Given the description of an element on the screen output the (x, y) to click on. 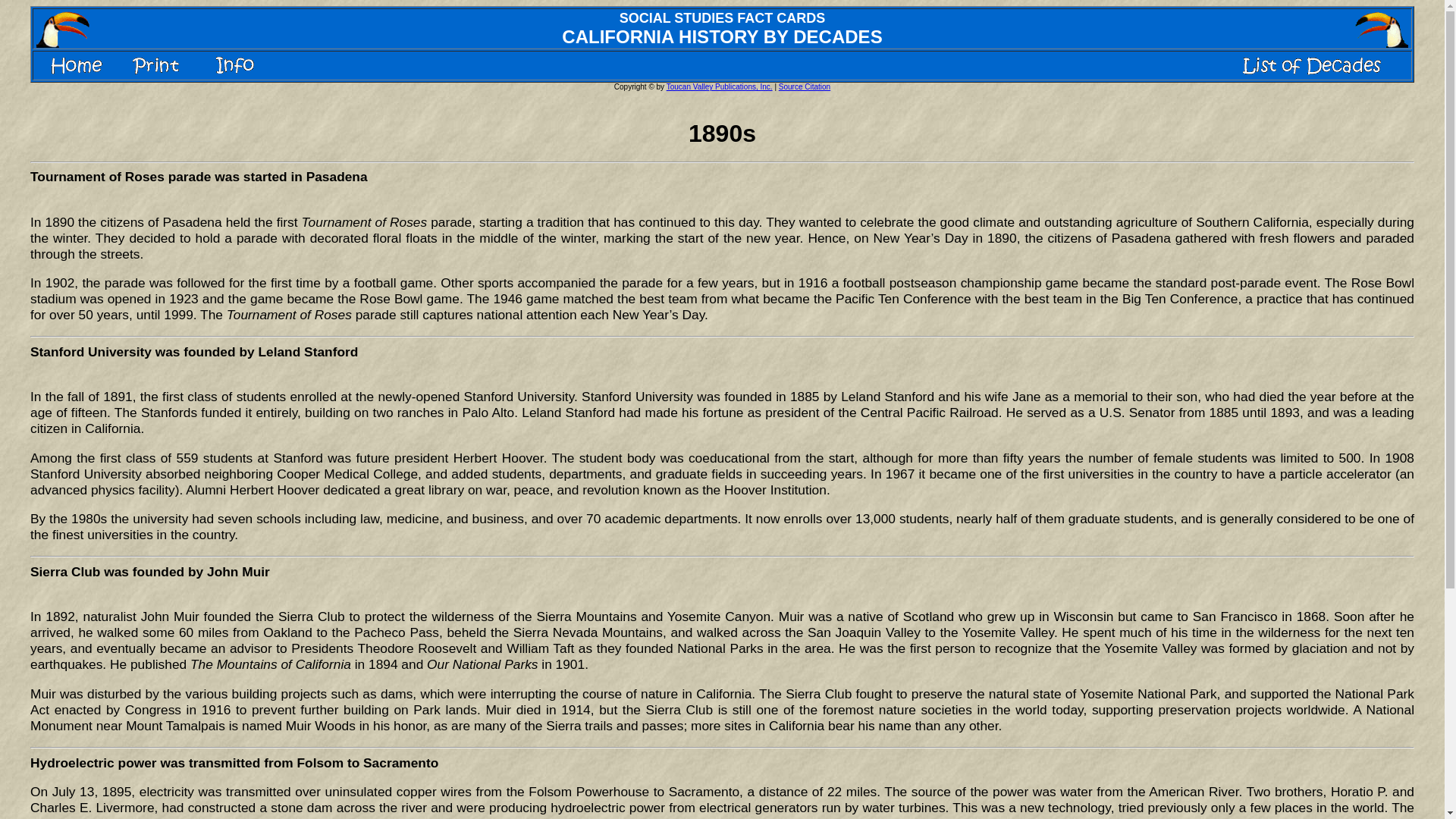
Toucan Valley Publications, Inc. (719, 86)
Source Citation (803, 86)
